Given the description of an element on the screen output the (x, y) to click on. 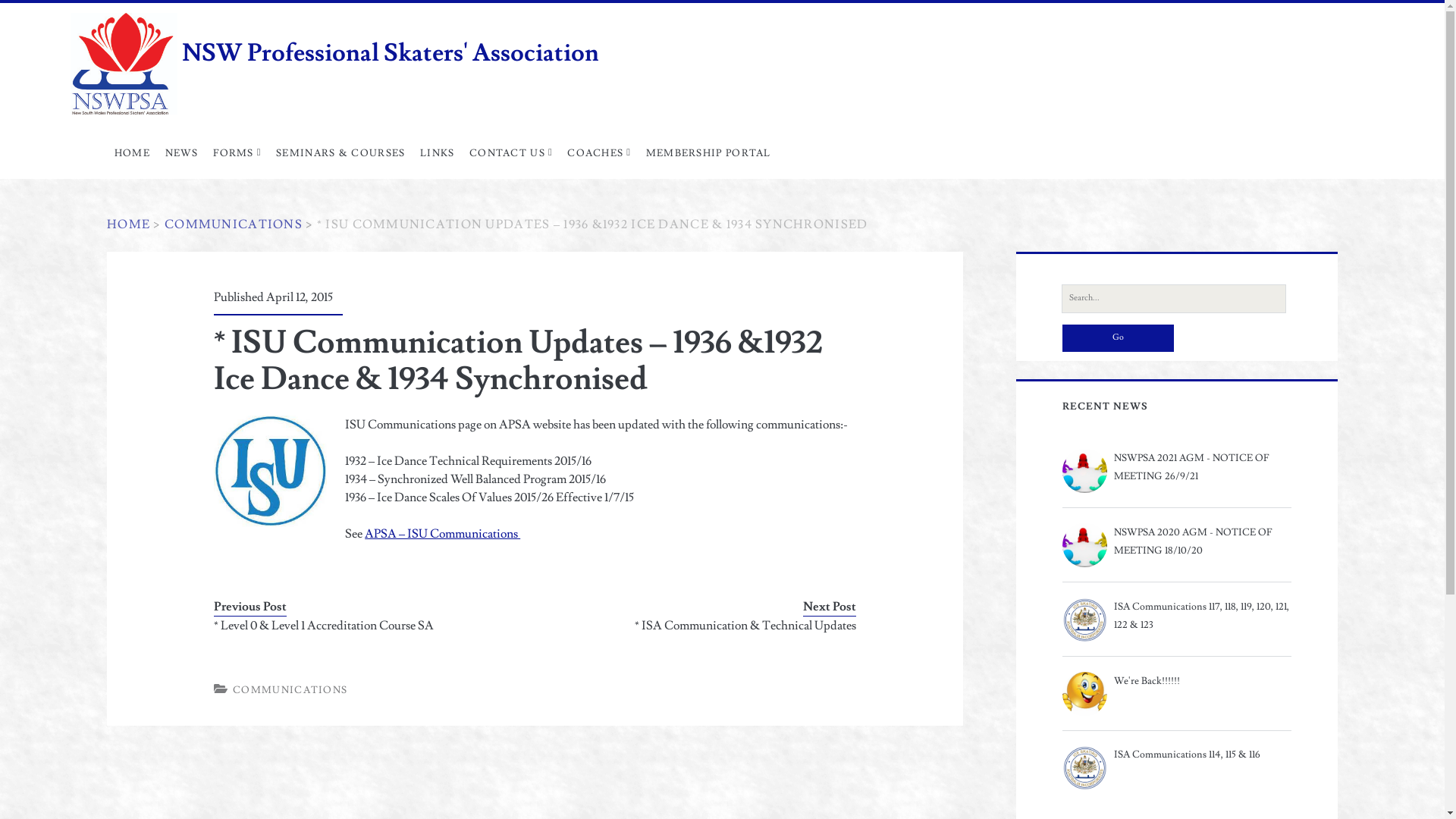
MEMBERSHIP PORTAL Element type: text (708, 152)
Go Element type: text (1117, 337)
ISA Communications 117, 118, 119, 120, 121, 122 & 123 Element type: text (1176, 615)
COMMUNICATIONS Element type: text (233, 224)
HOME Element type: text (128, 224)
NEWS Element type: text (181, 152)
NSWPSA 2021 AGM - NOTICE OF MEETING 26/9/21 Element type: text (1176, 466)
* Level 0 & Level 1 Accreditation Course SA Element type: text (360, 625)
SEMINARS & COURSES Element type: text (340, 152)
NSWPSA 2020 AGM - NOTICE OF MEETING 18/10/20 Element type: text (1176, 541)
CONTACT US Element type: text (510, 152)
Search for: Element type: hover (1173, 298)
FORMS Element type: text (237, 152)
* ISA Communication & Technical Updates Element type: text (707, 625)
COACHES Element type: text (598, 152)
COMMUNICATIONS Element type: text (289, 690)
ISA Communications 114, 115 & 116 Element type: text (1176, 754)
We're Back!!!!!! Element type: text (1176, 680)
HOME Element type: text (131, 152)
LINKS Element type: text (436, 152)
